Given the description of an element on the screen output the (x, y) to click on. 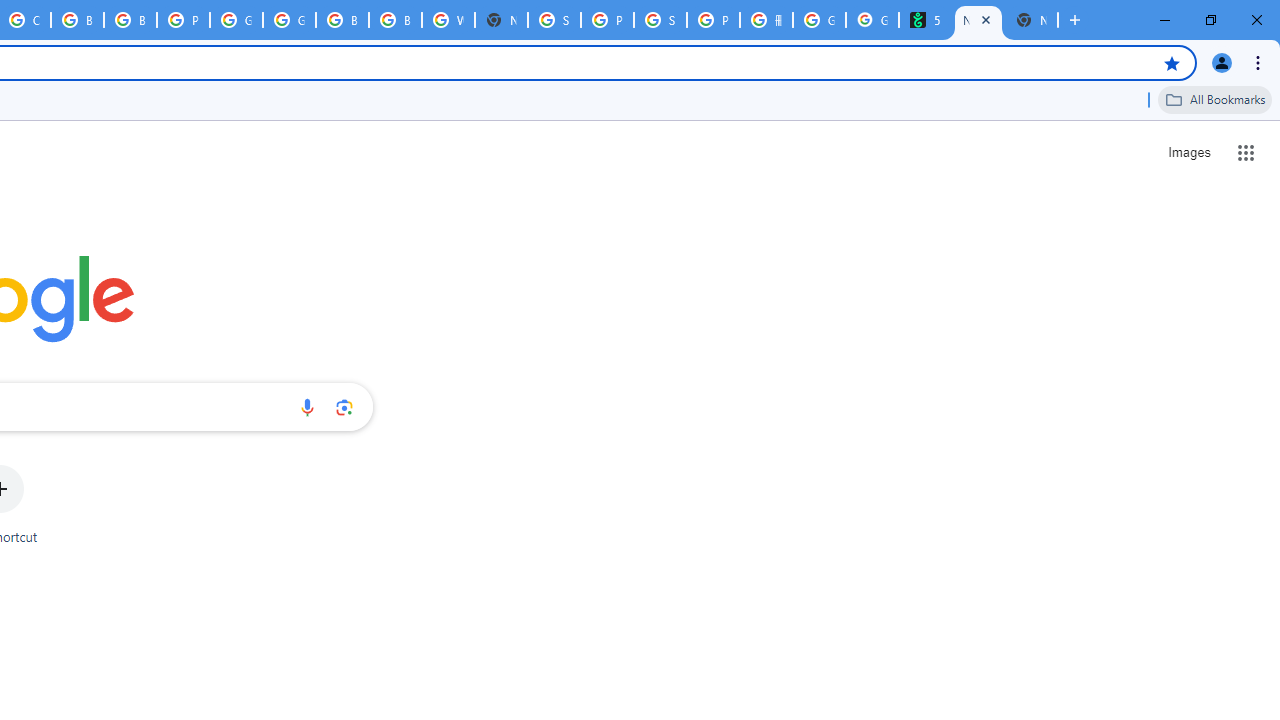
Browse Chrome as a guest - Computer - Google Chrome Help (342, 20)
All Bookmarks (1215, 99)
Search by voice (307, 407)
New Tab (1031, 20)
